Given the description of an element on the screen output the (x, y) to click on. 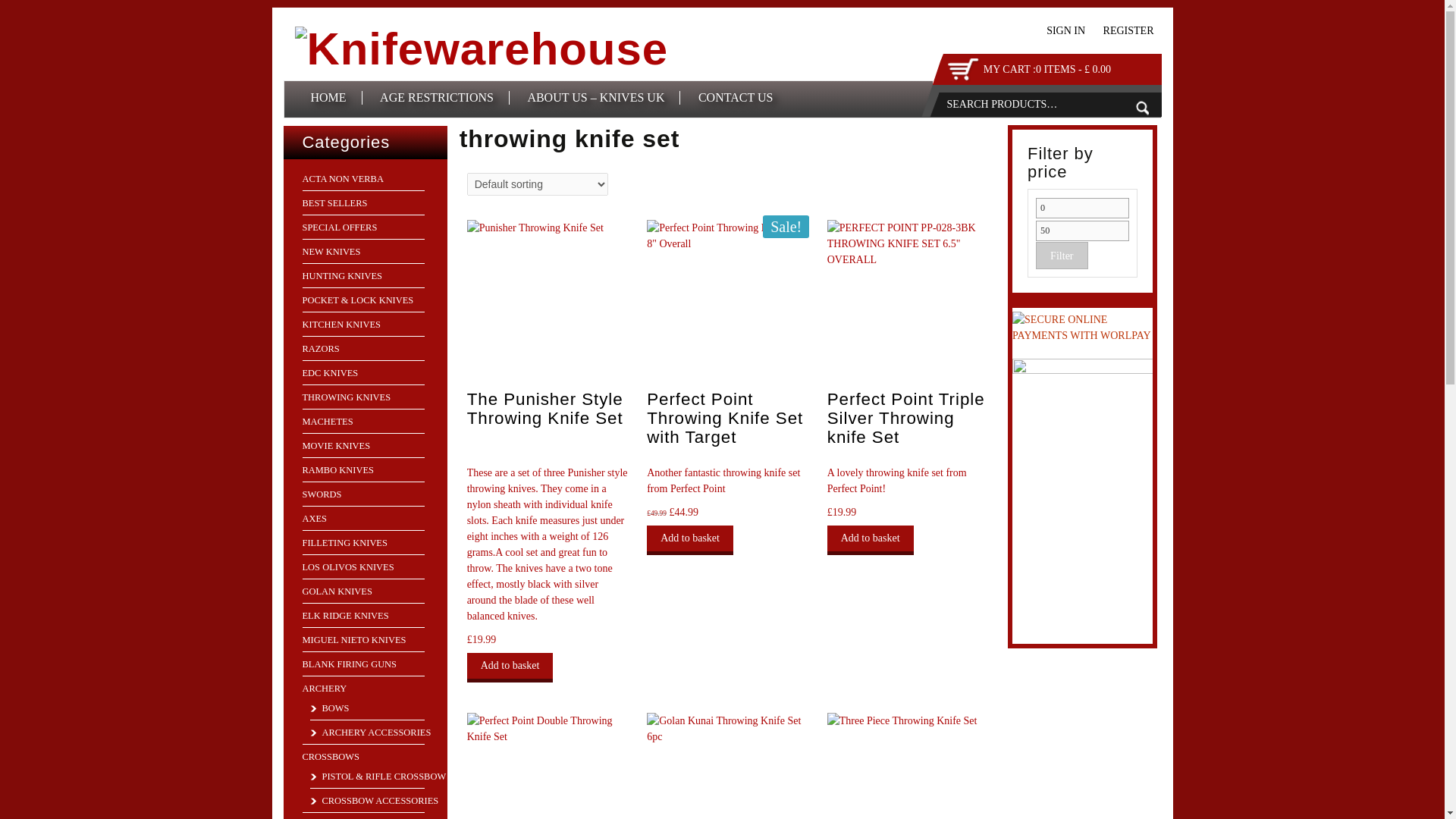
REGISTER (1128, 30)
CROSSBOW ACCESSORIES (373, 800)
SIGN IN (1065, 30)
SWORDS (320, 493)
HUNTING KNIVES (341, 276)
GOLAN KNIVES (336, 591)
CROSSBOWS (329, 756)
View your shopping cart (1047, 69)
MOVIE KNIVES (335, 445)
Search (1142, 107)
HOME (328, 97)
ACTA NON VERBA (341, 178)
ARCHERY ACCESSORIES (369, 732)
MIGUEL NIETO KNIVES (353, 639)
MACHETES (326, 421)
